Given the description of an element on the screen output the (x, y) to click on. 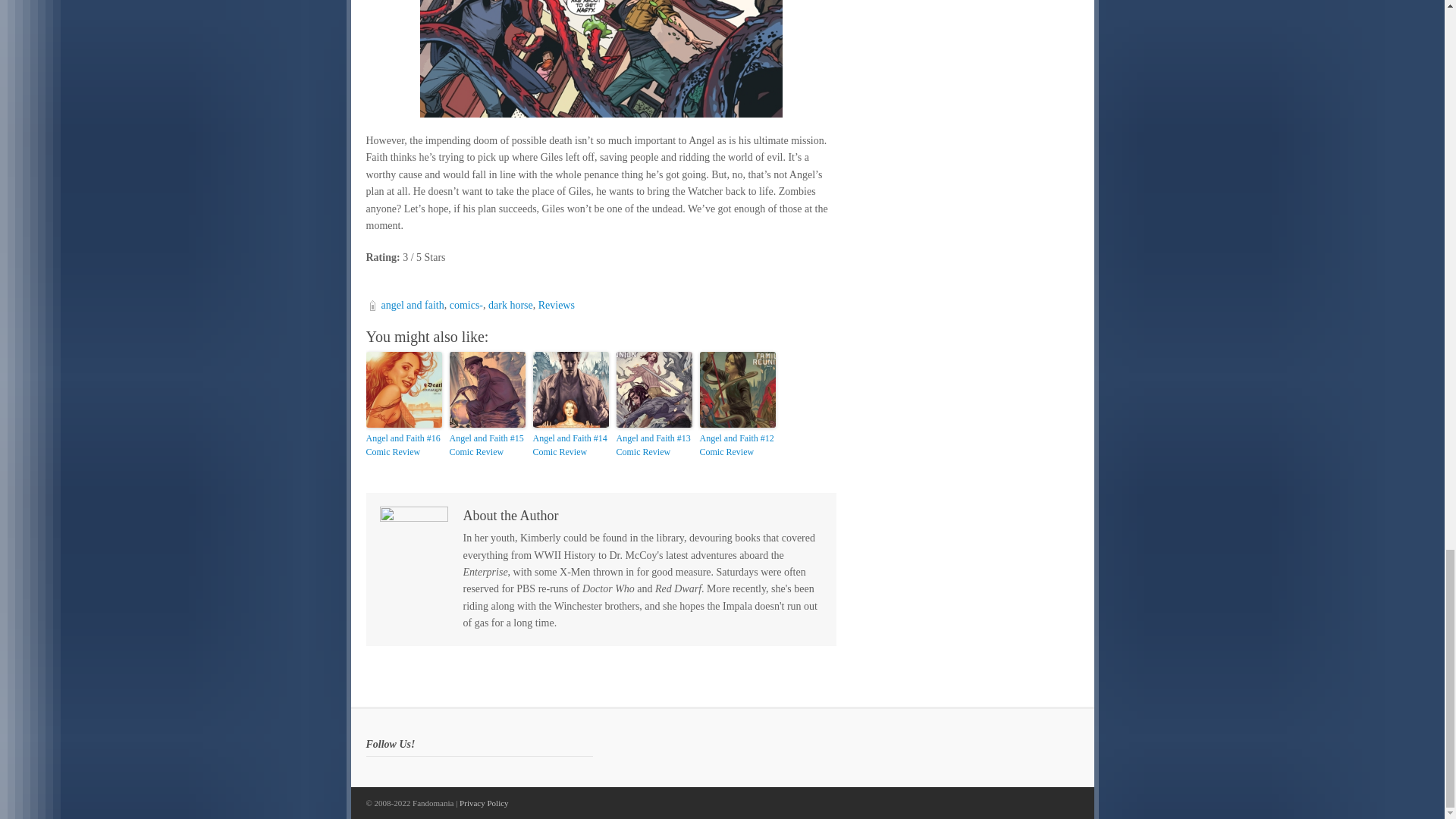
comics- (466, 305)
angel and faith (412, 305)
dark horse (509, 305)
Reviews (556, 305)
